Given the description of an element on the screen output the (x, y) to click on. 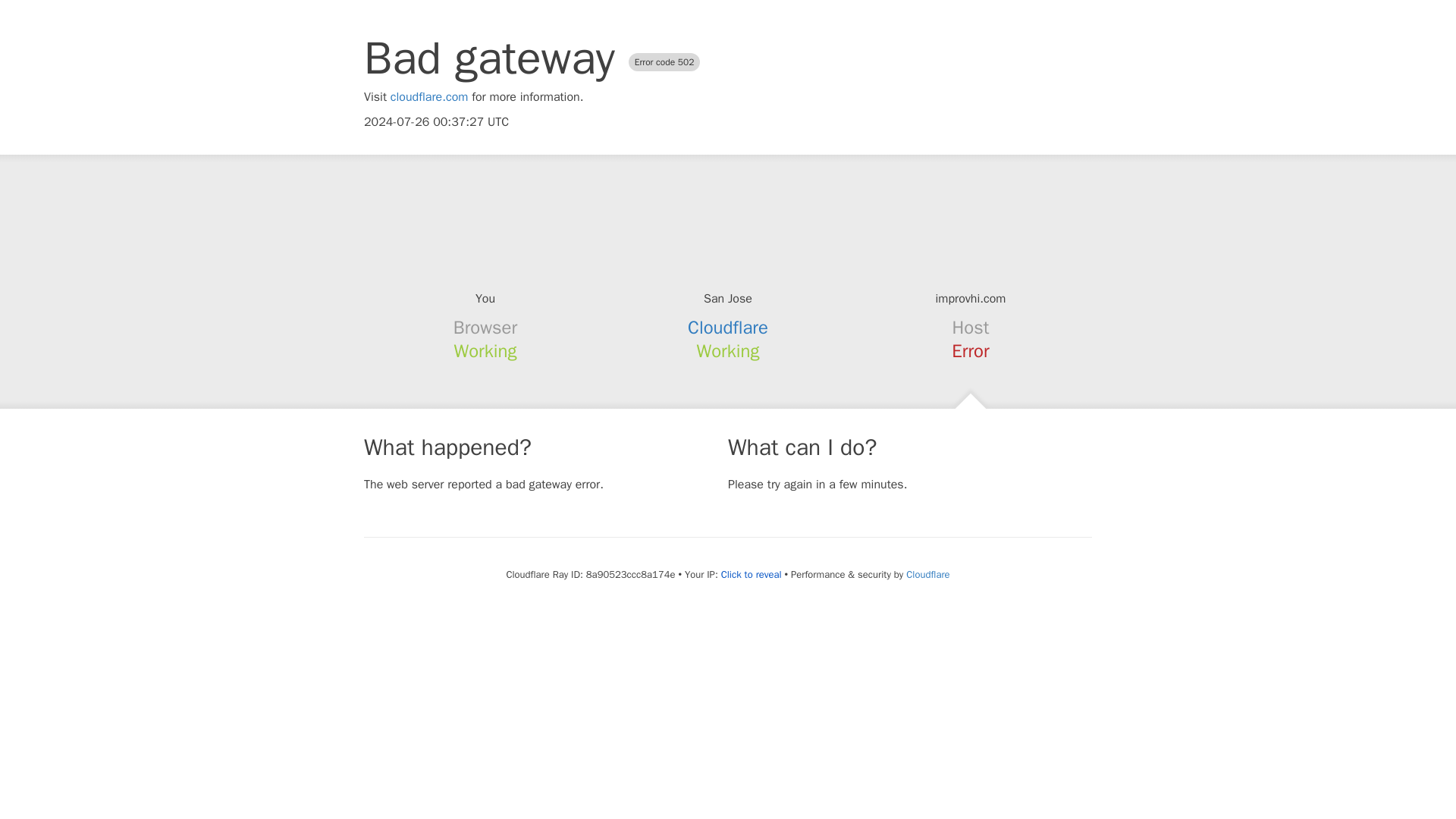
cloudflare.com (429, 96)
Cloudflare (727, 327)
Cloudflare (927, 574)
Click to reveal (750, 574)
